Given the description of an element on the screen output the (x, y) to click on. 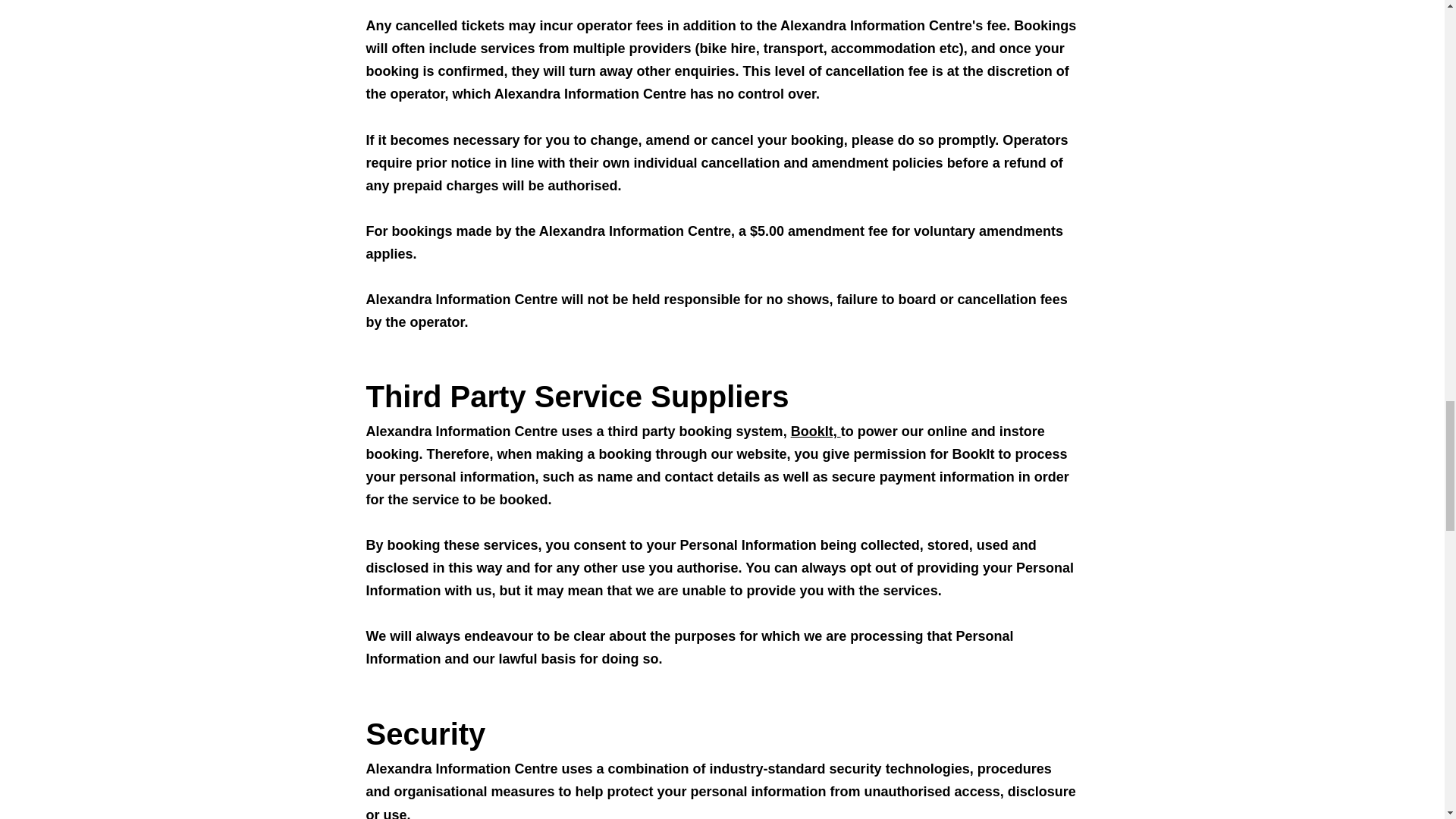
BookIt,  (815, 431)
